Given the description of an element on the screen output the (x, y) to click on. 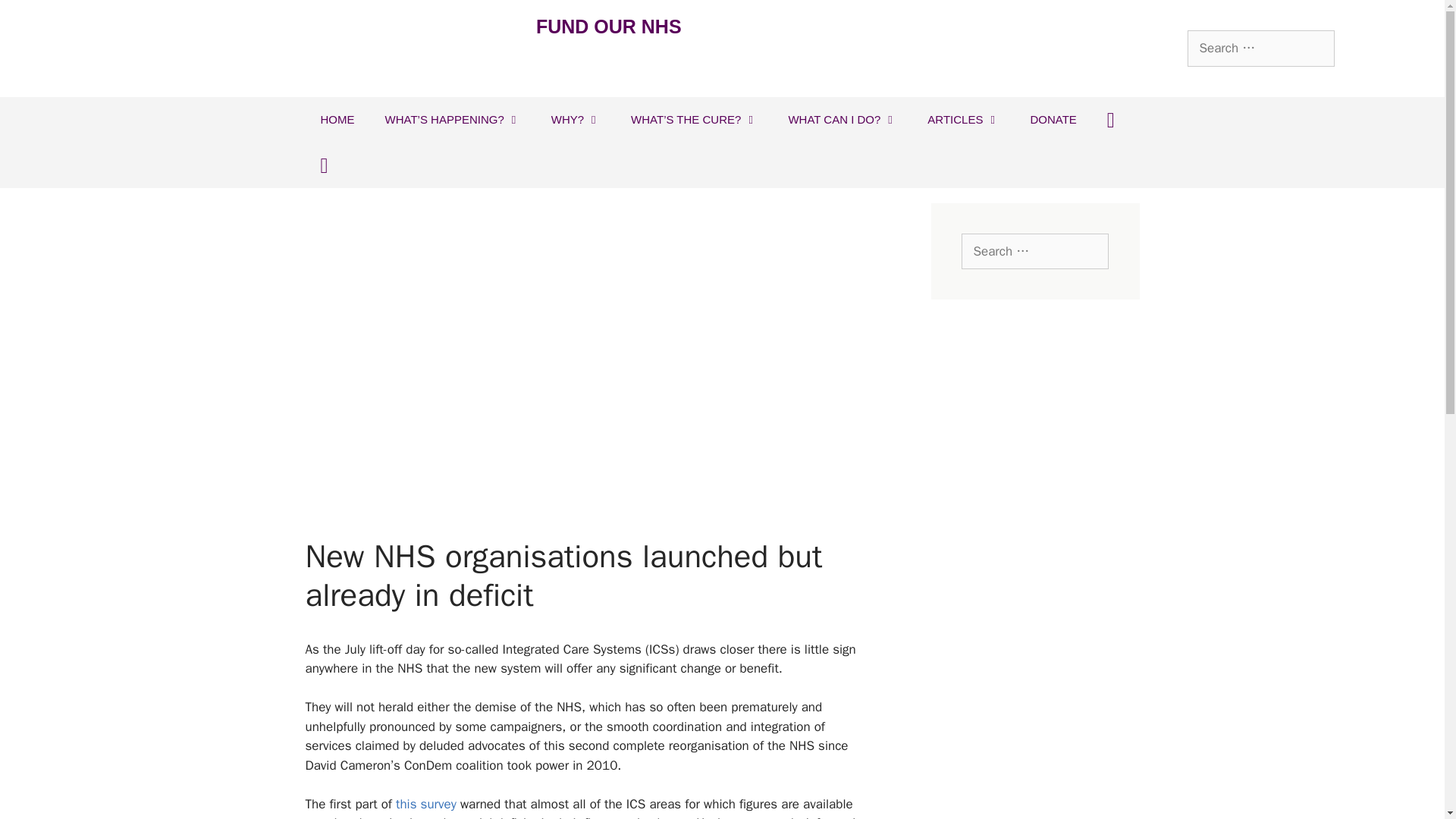
FUND OUR NHS (608, 25)
Search for: (1261, 48)
Search for: (1034, 251)
Search (35, 18)
